Given the description of an element on the screen output the (x, y) to click on. 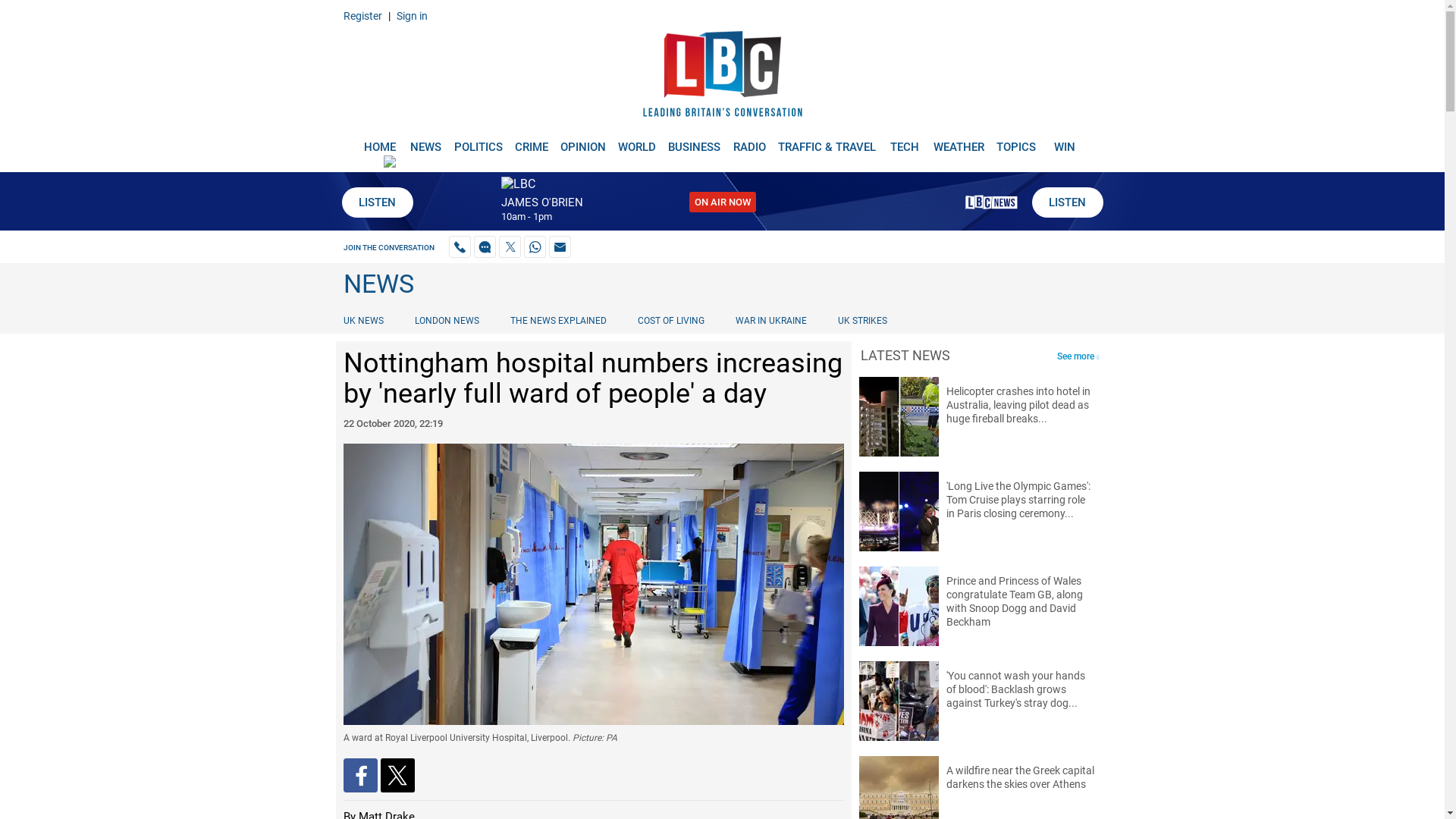
BUSINESS (694, 140)
POLITICS (478, 140)
UK STRIKES (862, 320)
WORLD (636, 140)
OPINION (582, 140)
HOME (379, 140)
LBC (722, 77)
WIN (1064, 140)
COST OF LIVING (670, 320)
LONDON NEWS (446, 320)
